Given the description of an element on the screen output the (x, y) to click on. 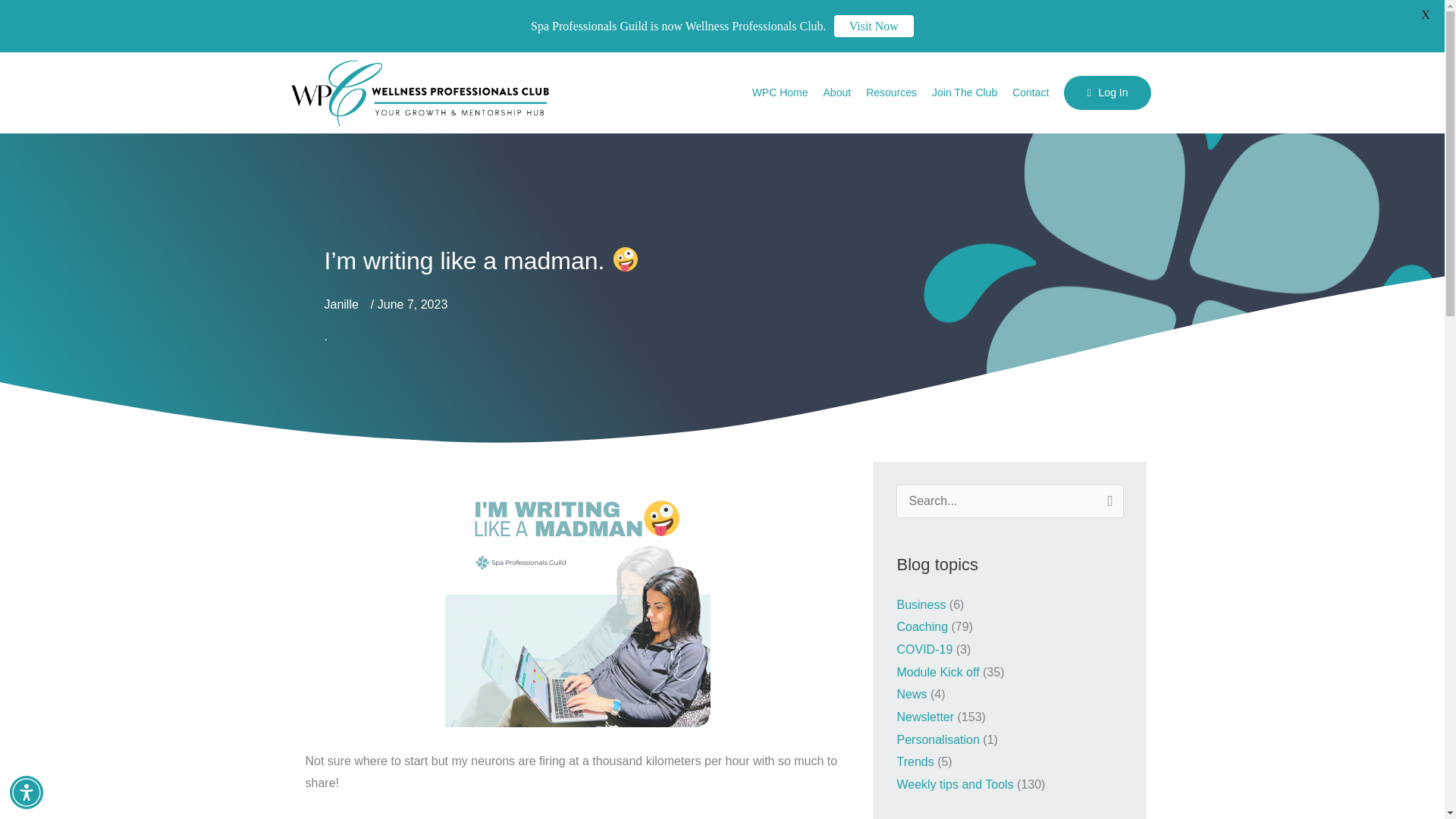
Join The Club (964, 92)
Coaching (921, 626)
Weekly tips and Tools (954, 784)
Contact (1030, 92)
WPC Home (779, 92)
Business (920, 603)
newsletter covers (577, 594)
Trends (914, 761)
Resources (891, 92)
COVID-19 (924, 649)
Personalisation (937, 739)
Newsletter (924, 716)
Module Kick off (937, 671)
Log In (1107, 92)
Accessibility Menu (26, 792)
